Given the description of an element on the screen output the (x, y) to click on. 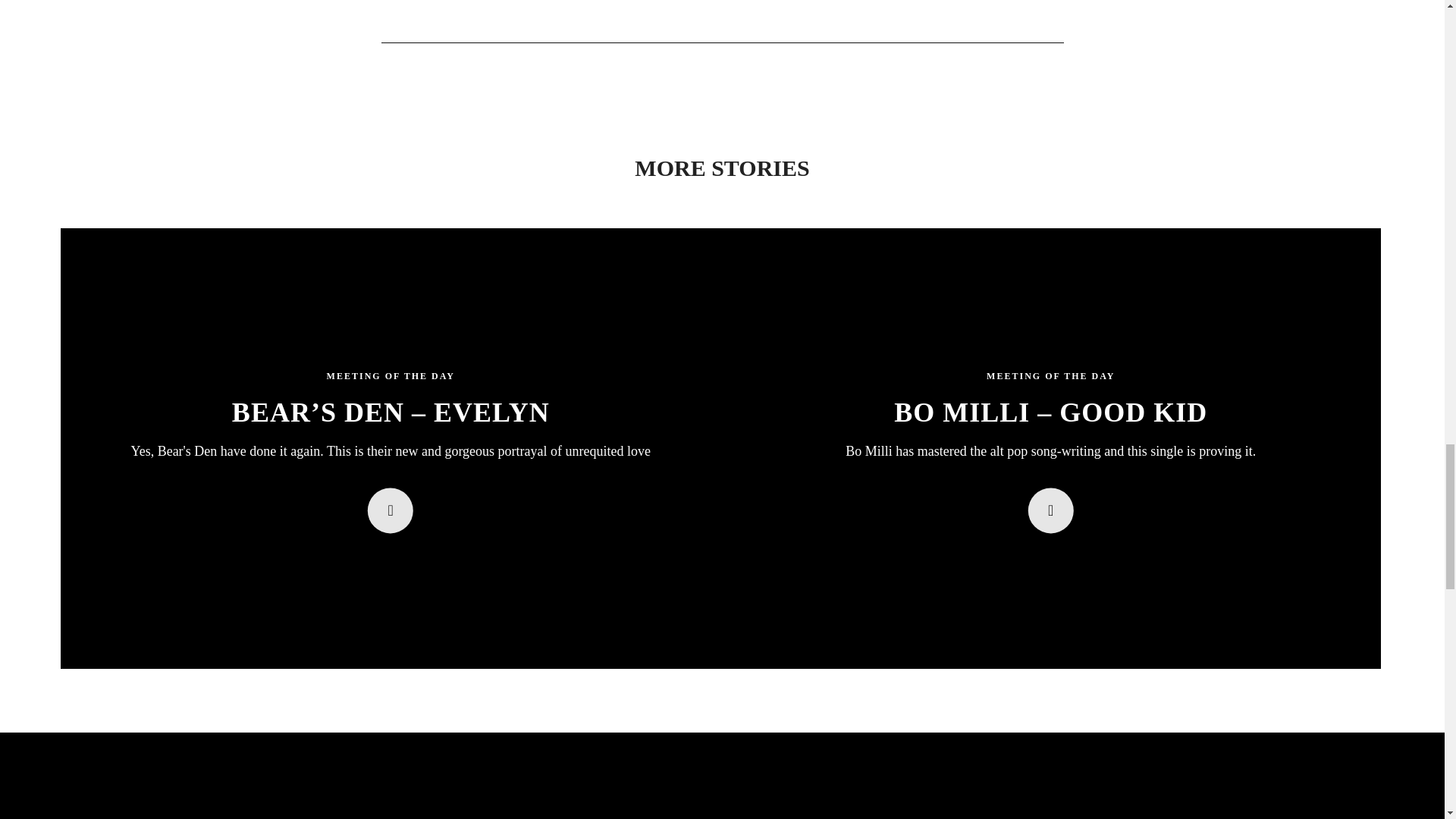
View all posts in meeting-of-the-day (390, 377)
View all posts in meeting-of-the-day (1051, 377)
